Given the description of an element on the screen output the (x, y) to click on. 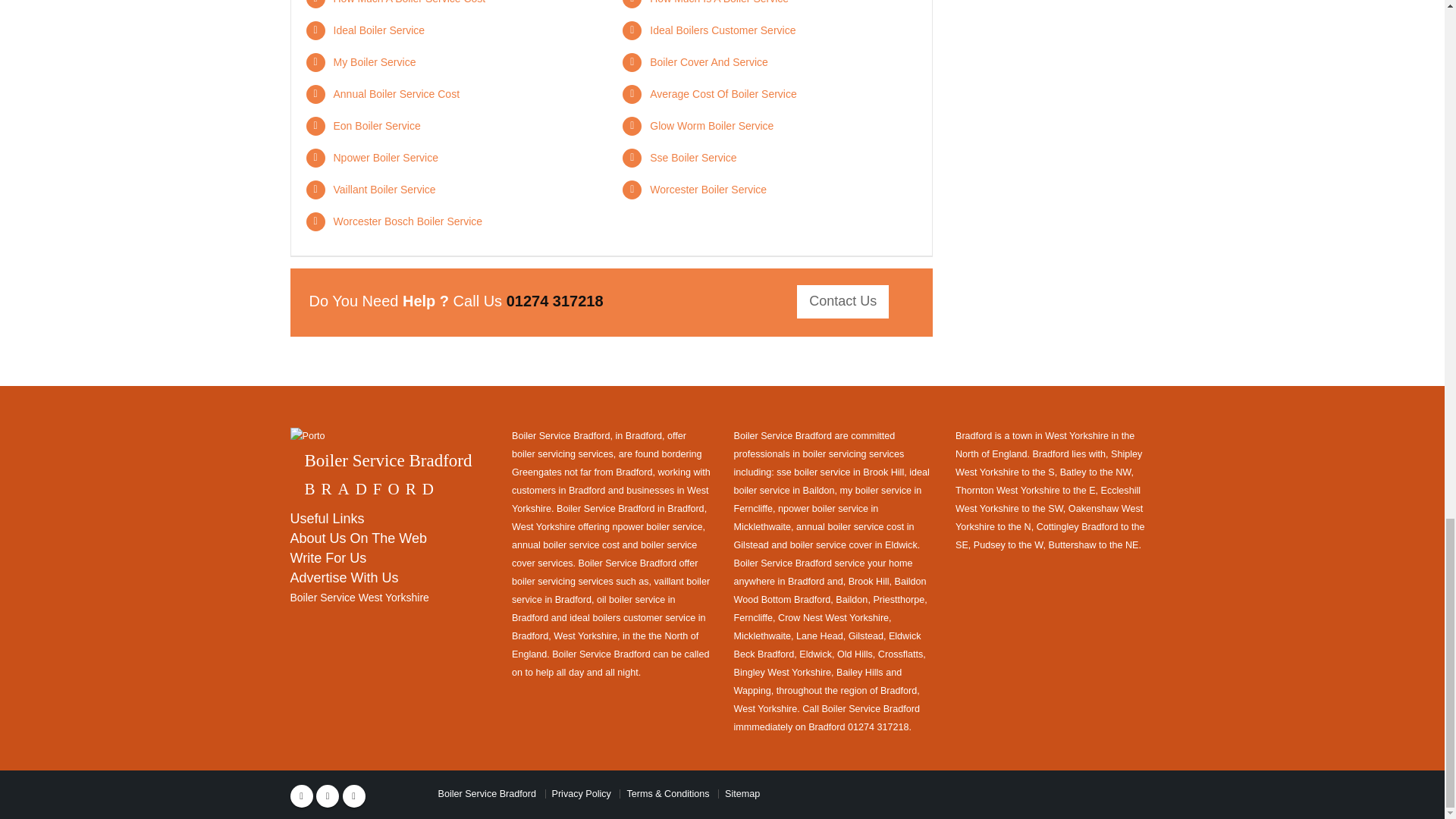
Linkedin (353, 795)
Twitter (327, 795)
Facebook (301, 795)
